Given the description of an element on the screen output the (x, y) to click on. 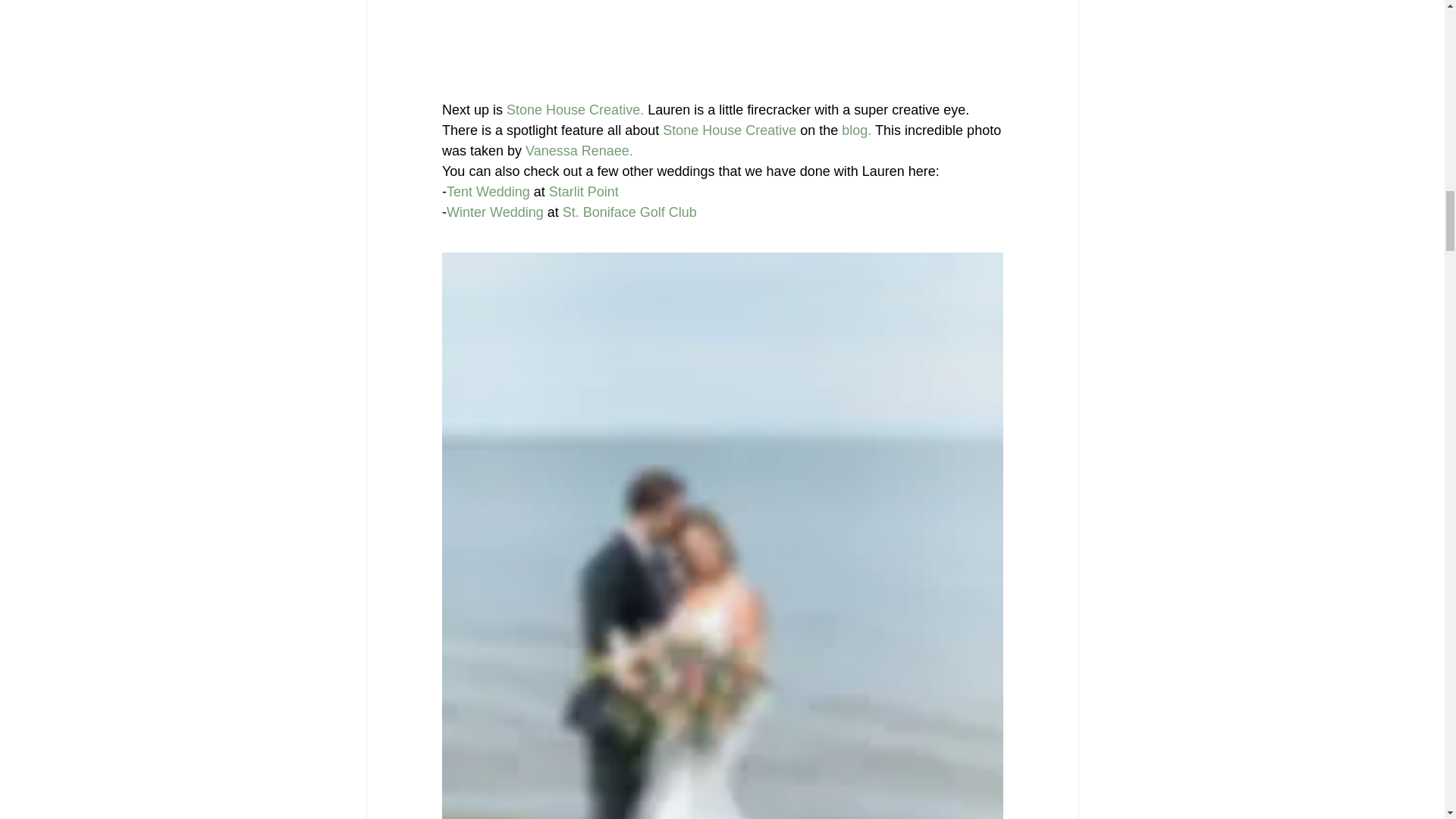
Winter Wedding (494, 211)
blog. (855, 129)
St. Boniface Golf Club (628, 211)
Stone House Creative. (574, 109)
Stone House Creative (729, 129)
Starlit Point (582, 191)
Vanessa Renaee. (579, 150)
Tent Wedding (487, 191)
